Given the description of an element on the screen output the (x, y) to click on. 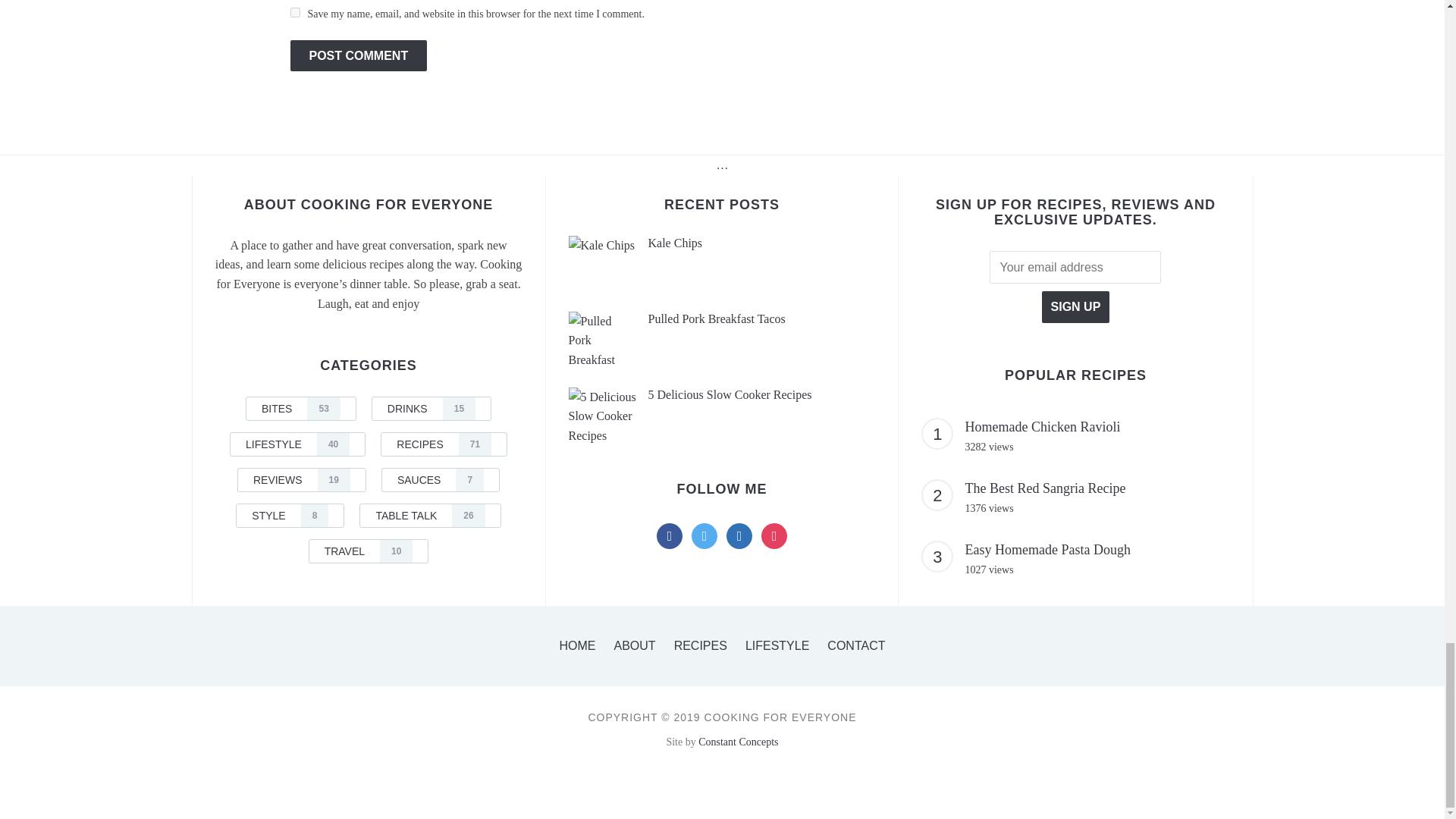
Post Comment (357, 56)
yes (294, 12)
Sign up (1075, 306)
